Given the description of an element on the screen output the (x, y) to click on. 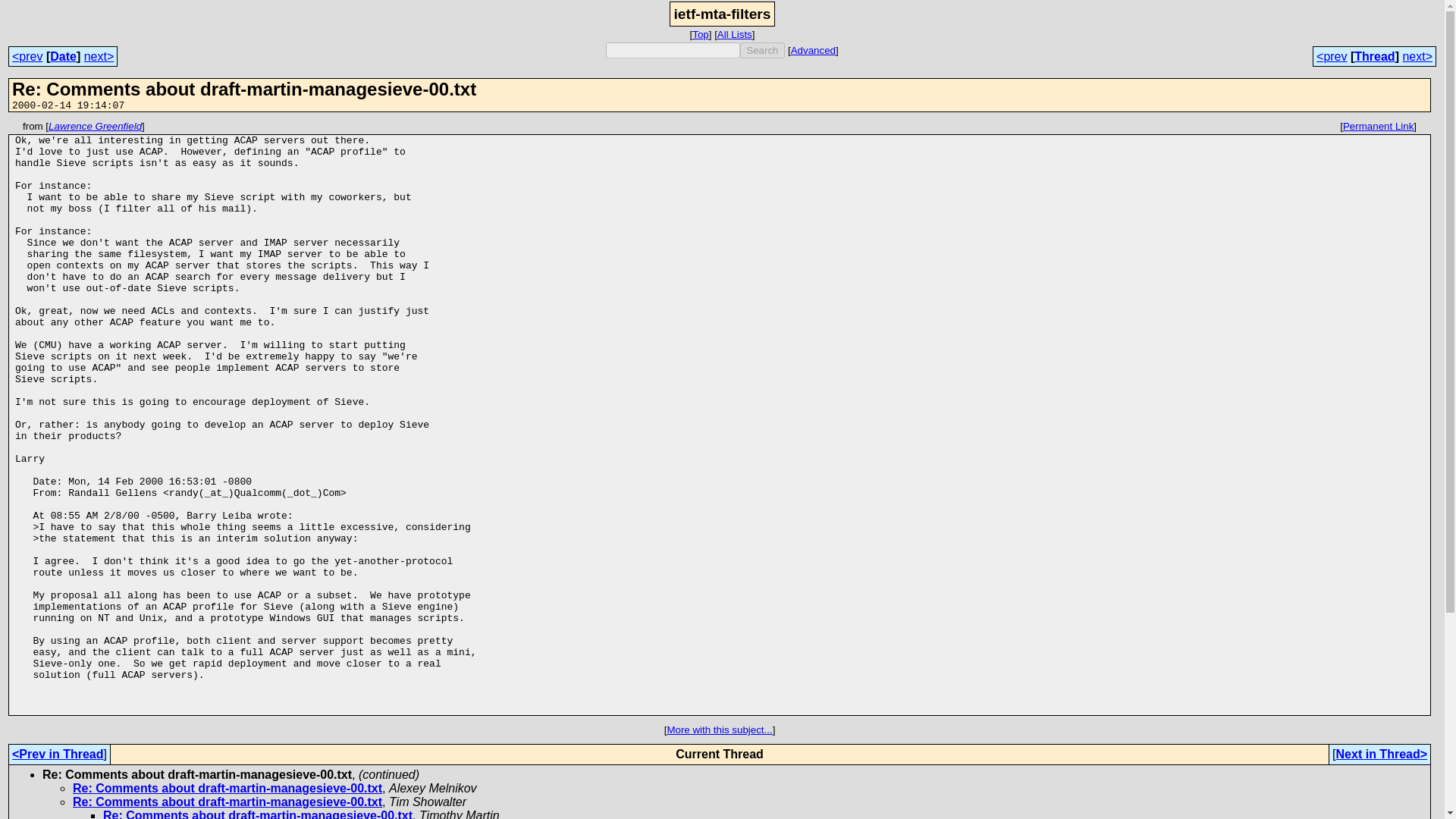
Lawrence Greenfield (94, 125)
Thread (1374, 56)
More with this subject... (718, 729)
Re: Comments about draft-martin-managesieve-00.txt (226, 788)
Permanent Link (1377, 125)
Search (761, 50)
Advanced (812, 50)
All Lists (734, 34)
Date (63, 56)
Re: Comments about draft-martin-managesieve-00.txt (226, 801)
